Given the description of an element on the screen output the (x, y) to click on. 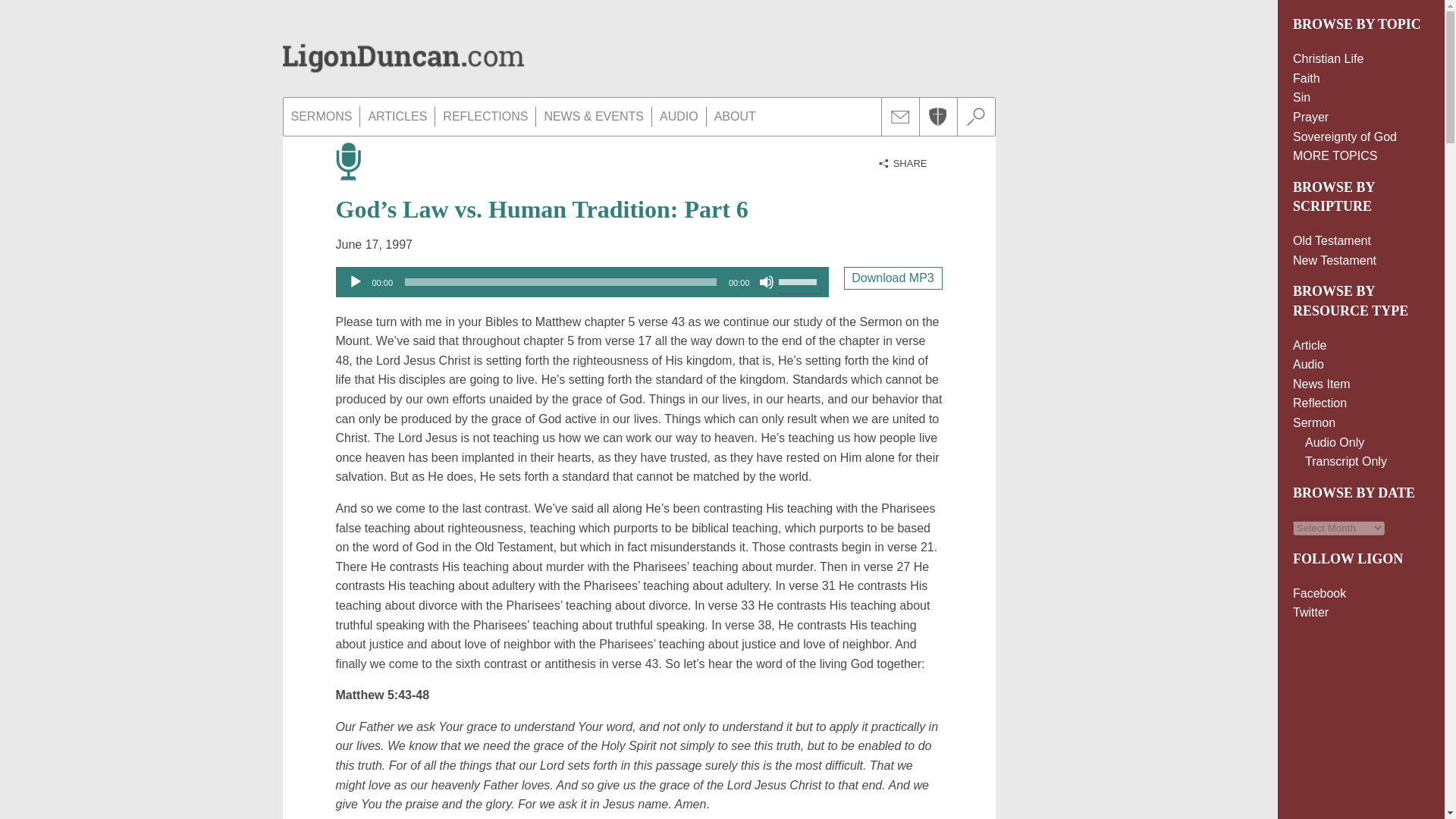
SERMONS (322, 116)
Christian Life (1327, 58)
REFLECTIONS (485, 116)
Download MP3 (892, 277)
Play (354, 281)
ABOUT (734, 116)
Faith (1306, 78)
Mute (765, 281)
AUDIO (679, 116)
ARTICLES (397, 116)
